Given the description of an element on the screen output the (x, y) to click on. 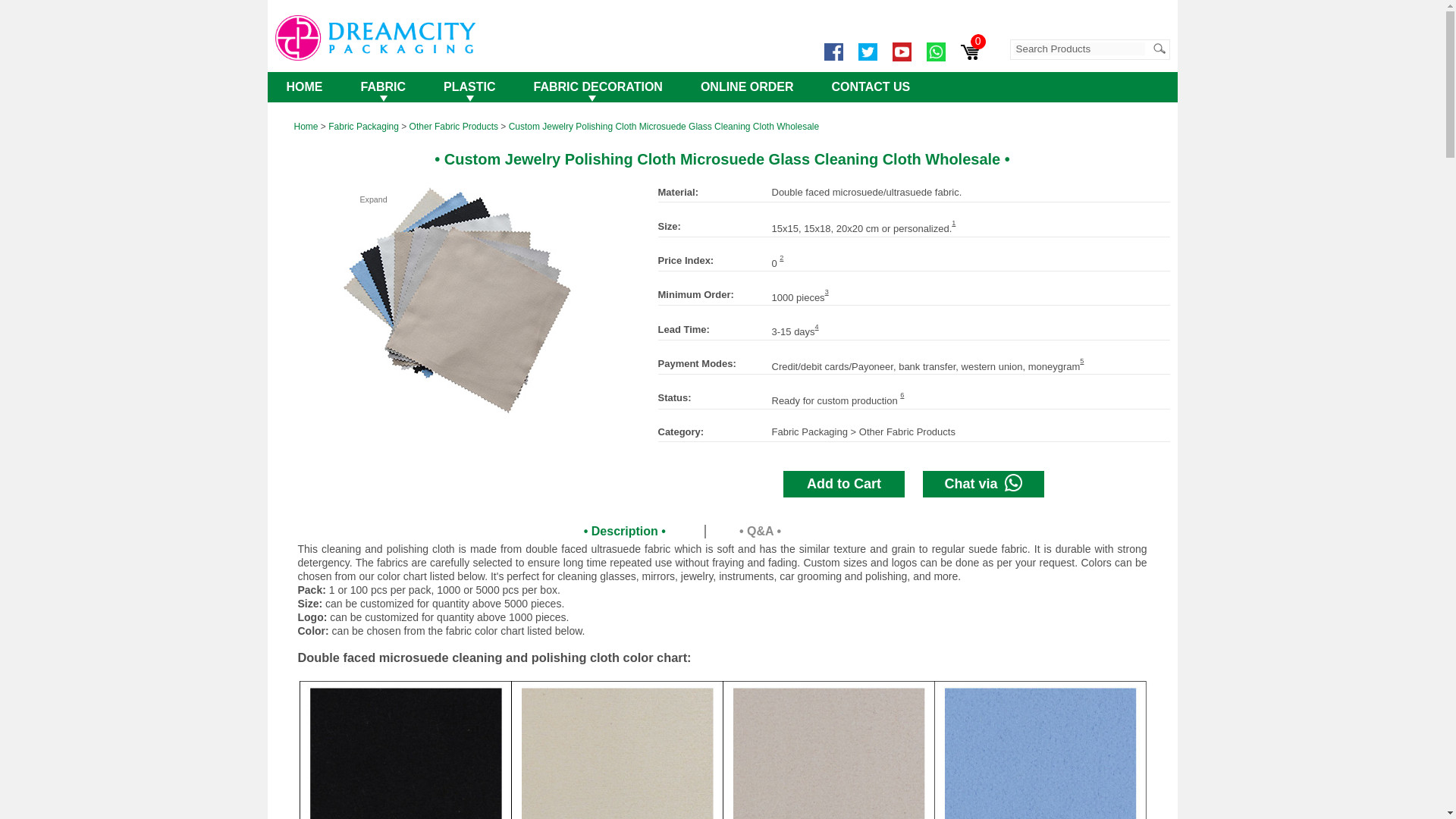
Search Products (1078, 48)
Search Products (1078, 48)
FABRIC (382, 87)
PLASTIC (469, 87)
HOME (304, 87)
